Given the description of an element on the screen output the (x, y) to click on. 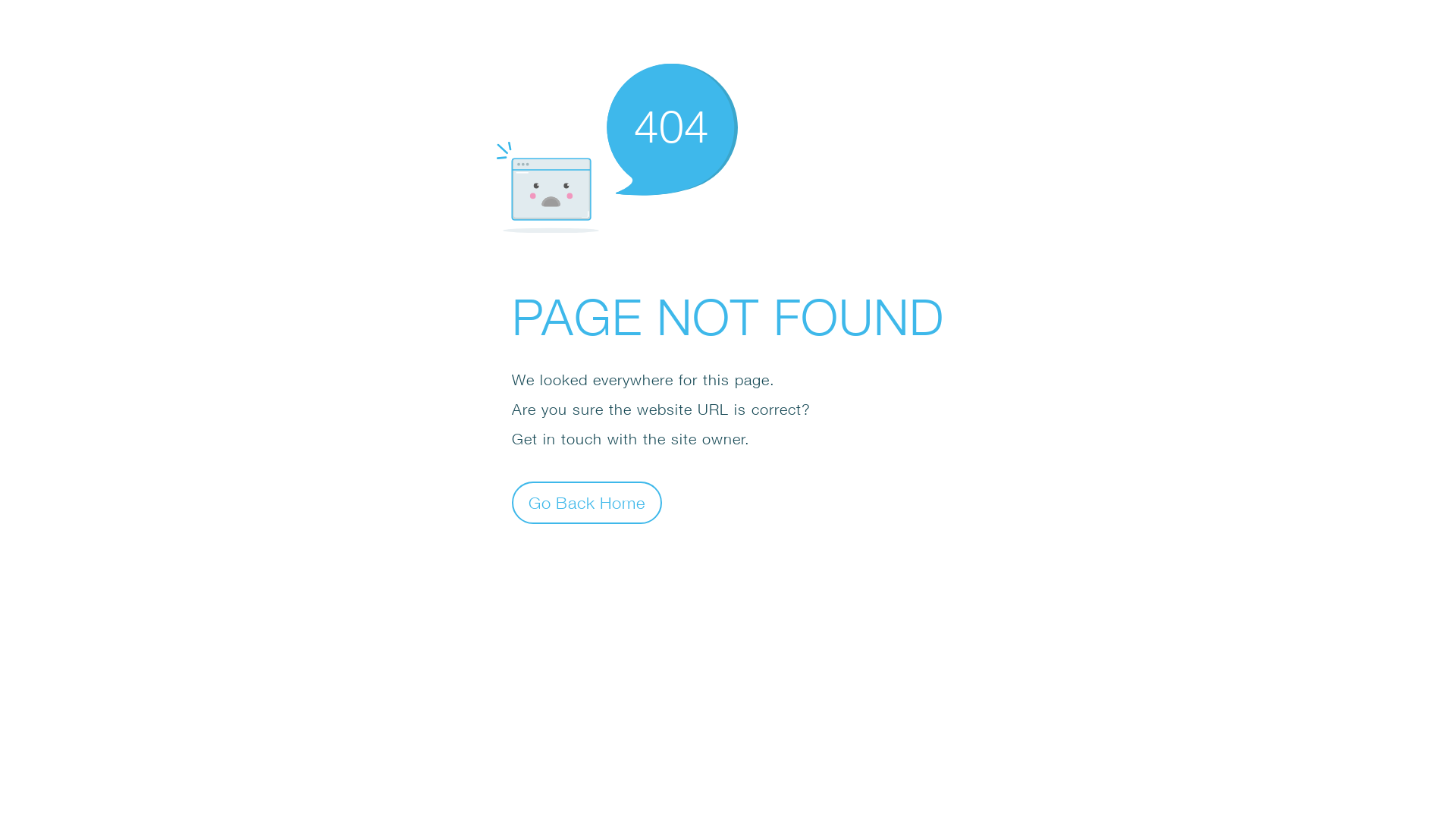
Go Back Home Element type: text (586, 502)
